Given the description of an element on the screen output the (x, y) to click on. 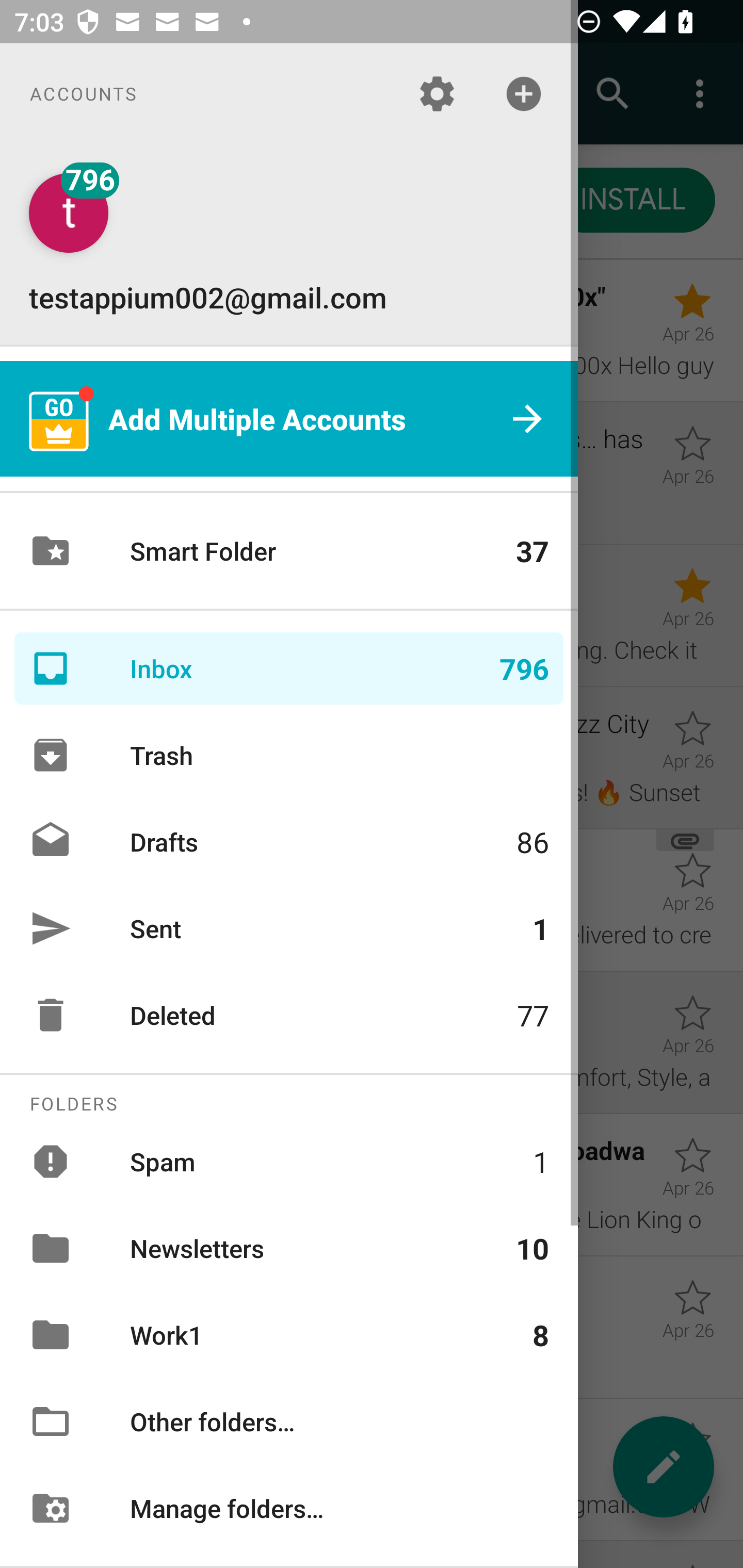
testappium002@gmail.com (289, 244)
Add Multiple Accounts (289, 418)
Smart Folder 37 (289, 551)
Inbox 796 (289, 668)
Trash (289, 754)
Drafts 86 (289, 841)
Sent 1 (289, 928)
Deleted 77 (289, 1015)
Spam 1 (289, 1160)
Newsletters 10 (289, 1248)
Work1 8 (289, 1335)
Other folders… (289, 1421)
Manage folders… (289, 1507)
